Given the description of an element on the screen output the (x, y) to click on. 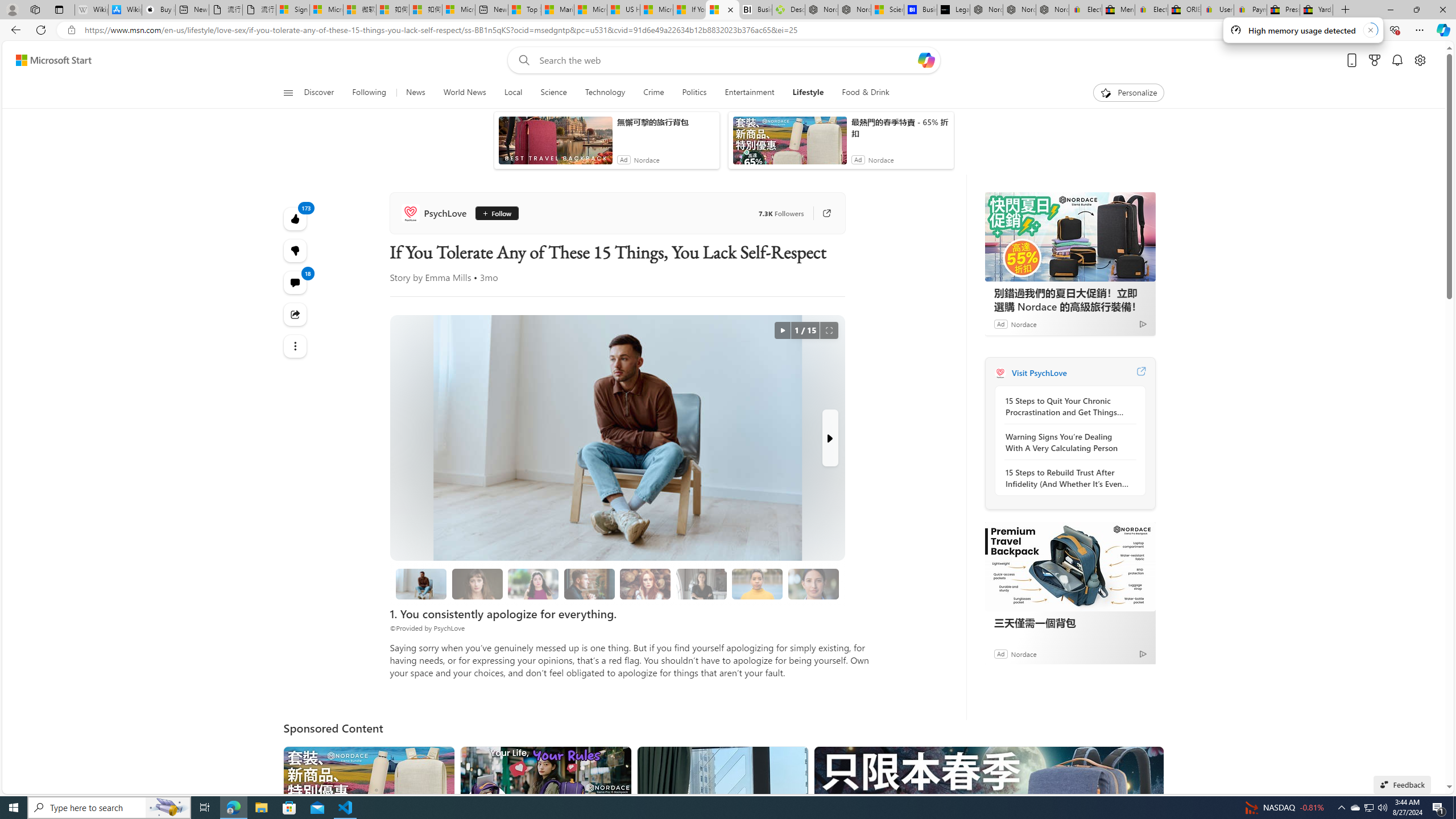
US Heat Deaths Soared To Record High Last Year (623, 9)
Lifestyle (808, 92)
Visit PsychLove website (1140, 372)
